Given the description of an element on the screen output the (x, y) to click on. 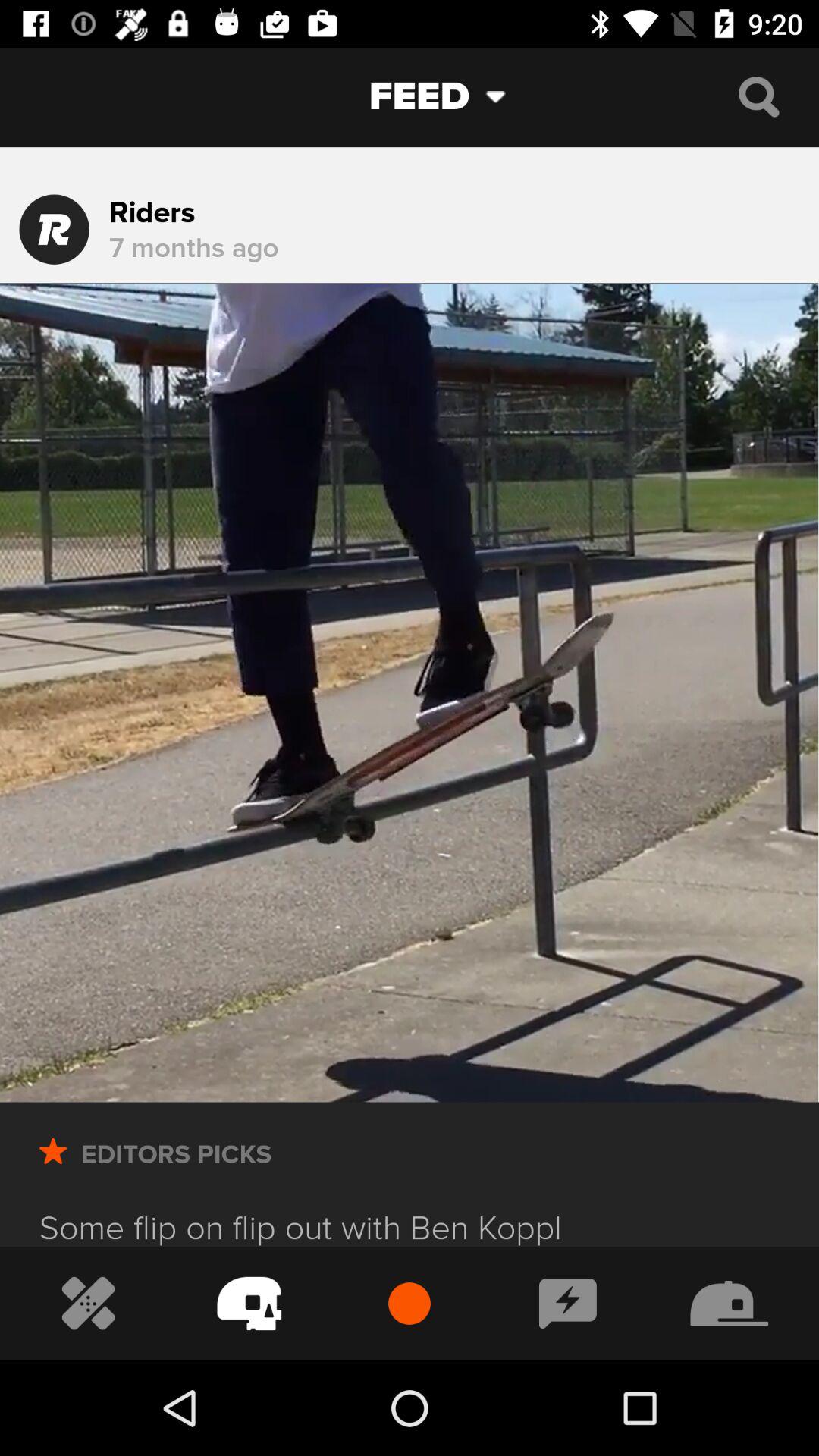
select the star button (53, 1173)
